Given the description of an element on the screen output the (x, y) to click on. 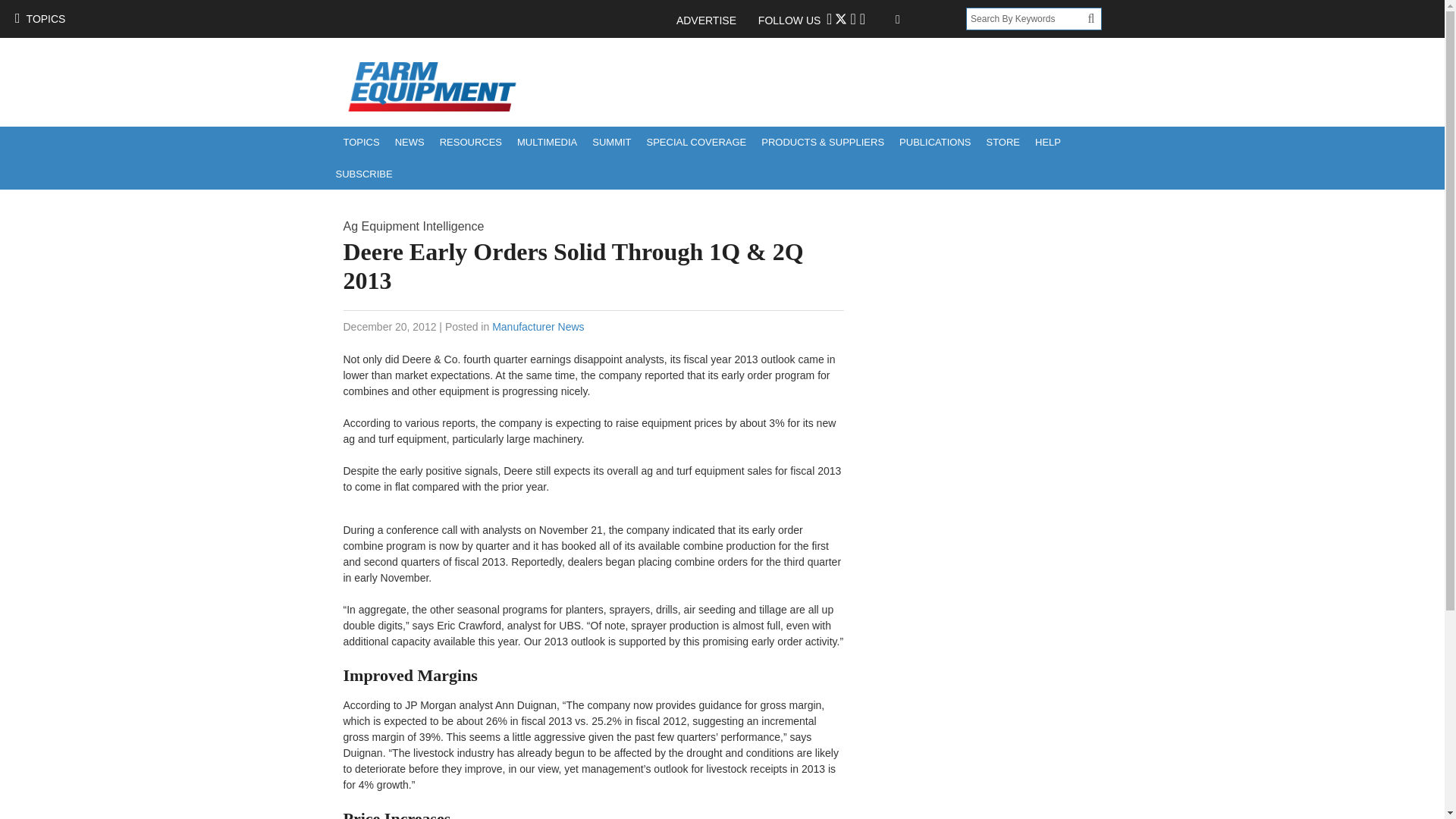
TOPICS (39, 18)
Search By Keywords (1026, 18)
Search By Keywords (1026, 18)
TOPICS (360, 142)
ADVERTISE (714, 20)
